Given the description of an element on the screen output the (x, y) to click on. 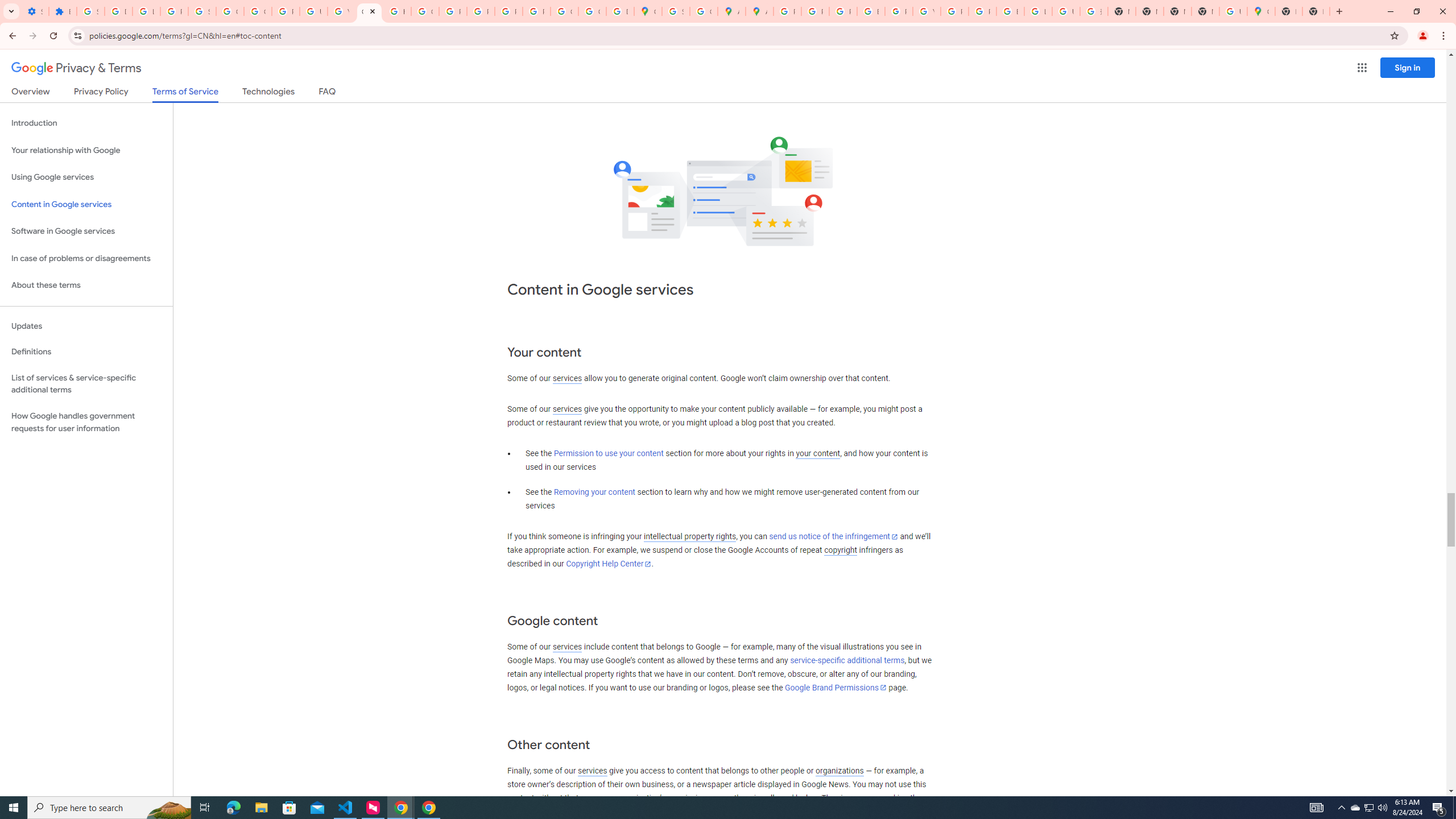
services (591, 770)
Software in Google services (86, 230)
Privacy Help Center - Policies Help (452, 11)
Google Maps (1260, 11)
List of services & service-specific additional terms (86, 383)
YouTube (926, 11)
https://scholar.google.com/ (397, 11)
Create your Google Account (703, 11)
Policy Accountability and Transparency - Transparency Center (787, 11)
